Given the description of an element on the screen output the (x, y) to click on. 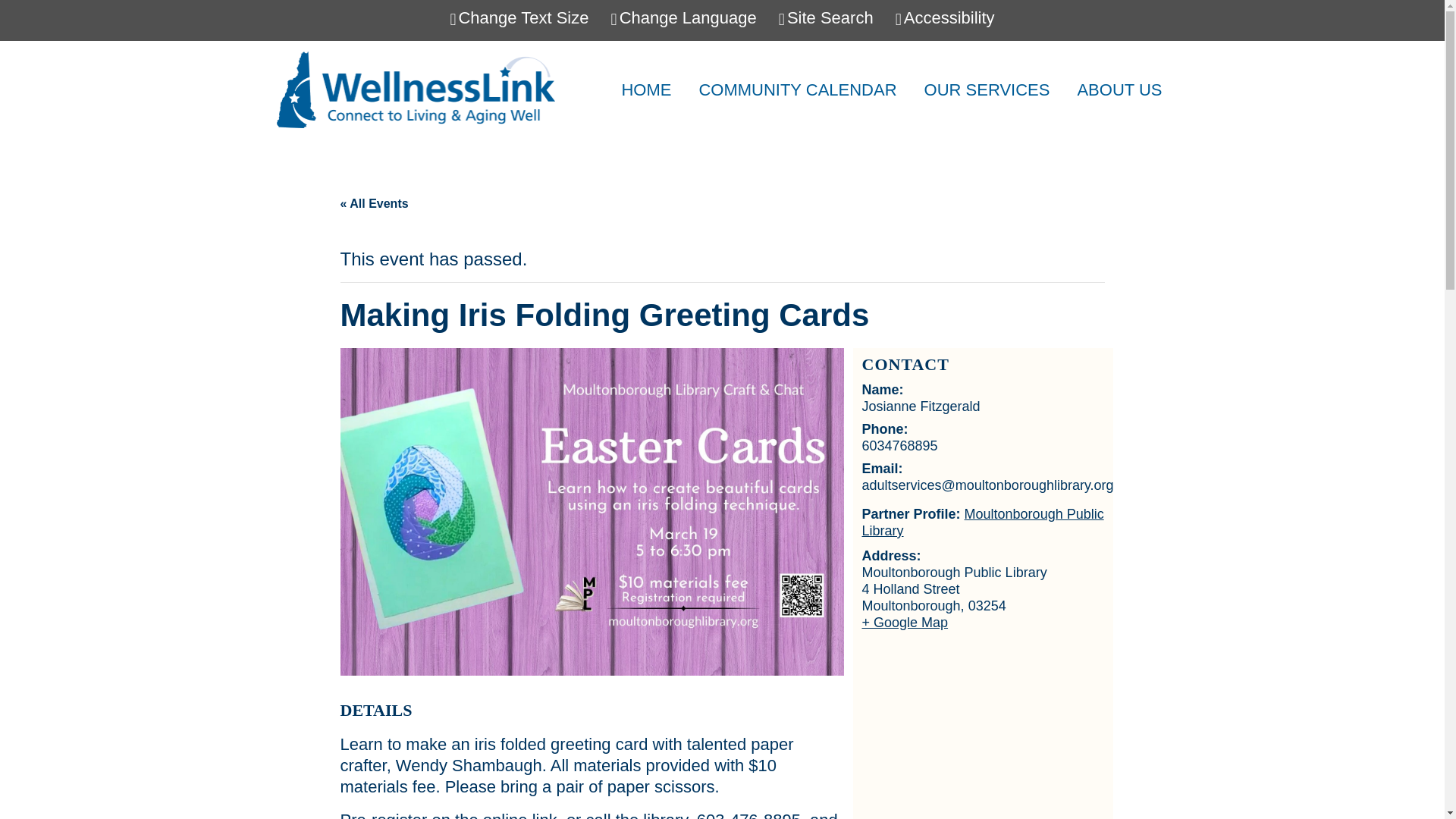
Community Calendar (797, 89)
Site Search (825, 17)
OUR SERVICES (987, 89)
HOME (645, 89)
Home (645, 89)
Accessibility (944, 17)
ABOUT US (1118, 89)
Change Language (684, 17)
Our Services (987, 89)
